Given the description of an element on the screen output the (x, y) to click on. 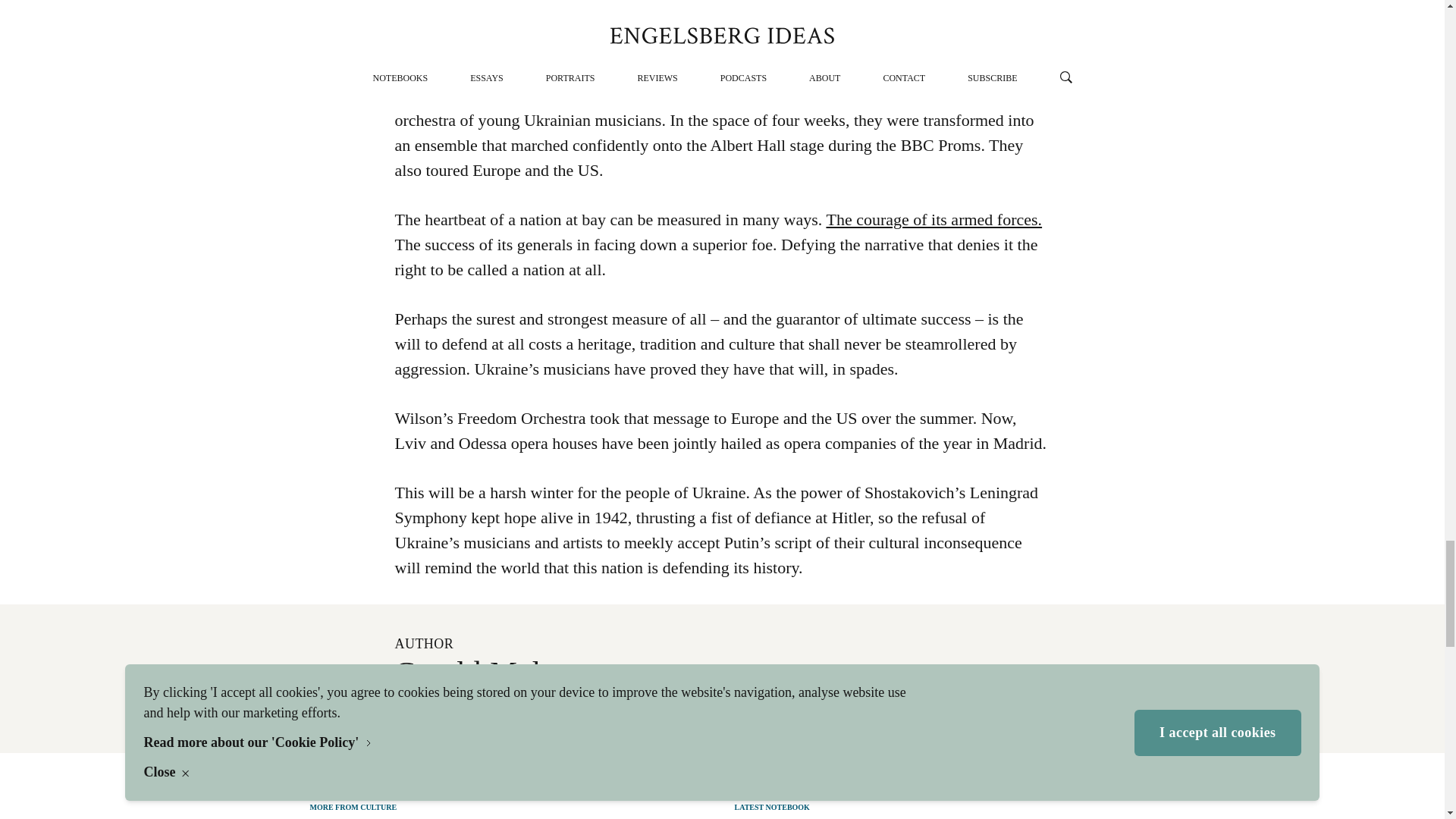
The courage of its armed forces. (933, 219)
More about Gerald Malone (478, 712)
